Given the description of an element on the screen output the (x, y) to click on. 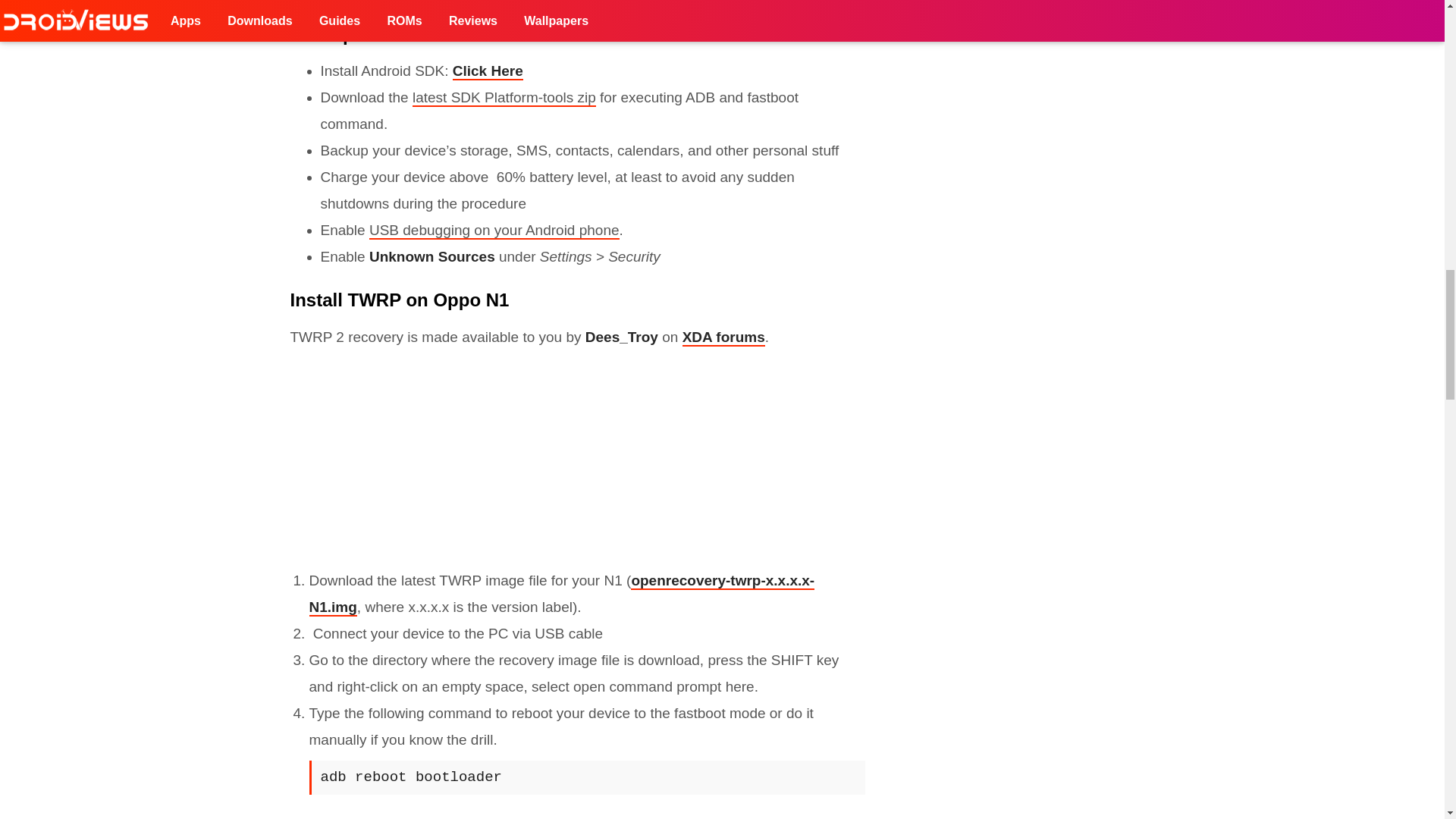
latest SDK Platform-tools zip (503, 98)
USB debugging on your Android phone (494, 230)
openrecovery-twrp-x.x.x.x-N1.img (561, 594)
Click Here (487, 71)
XDA forums (723, 337)
